Given the description of an element on the screen output the (x, y) to click on. 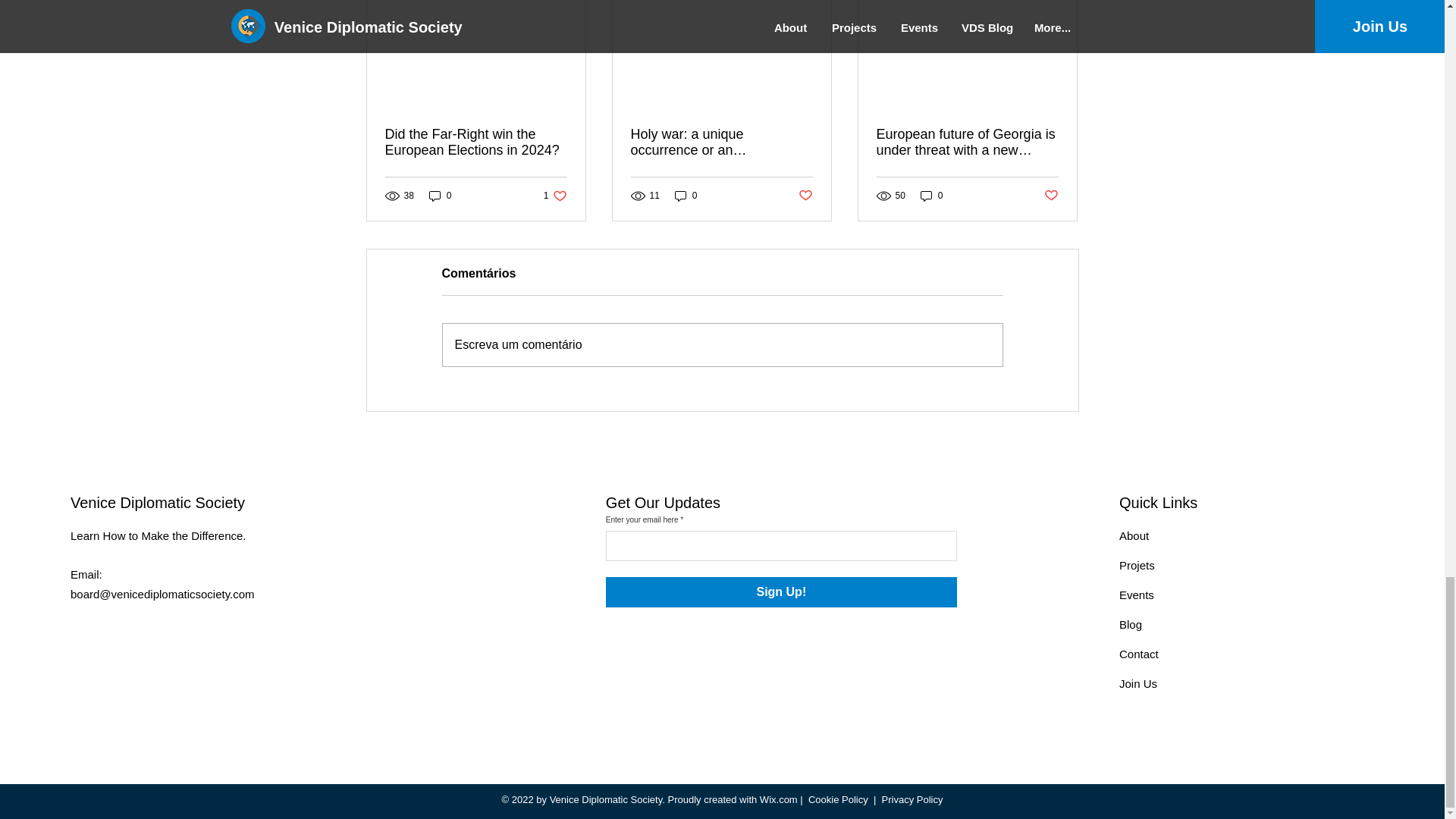
Did the Far-Right win the European Elections in 2024? (476, 142)
Holy war: a unique occurrence or an established practice? (555, 196)
0 (721, 142)
Post not marked as liked (931, 196)
Post not marked as liked (1050, 195)
0 (804, 195)
0 (440, 196)
